Given the description of an element on the screen output the (x, y) to click on. 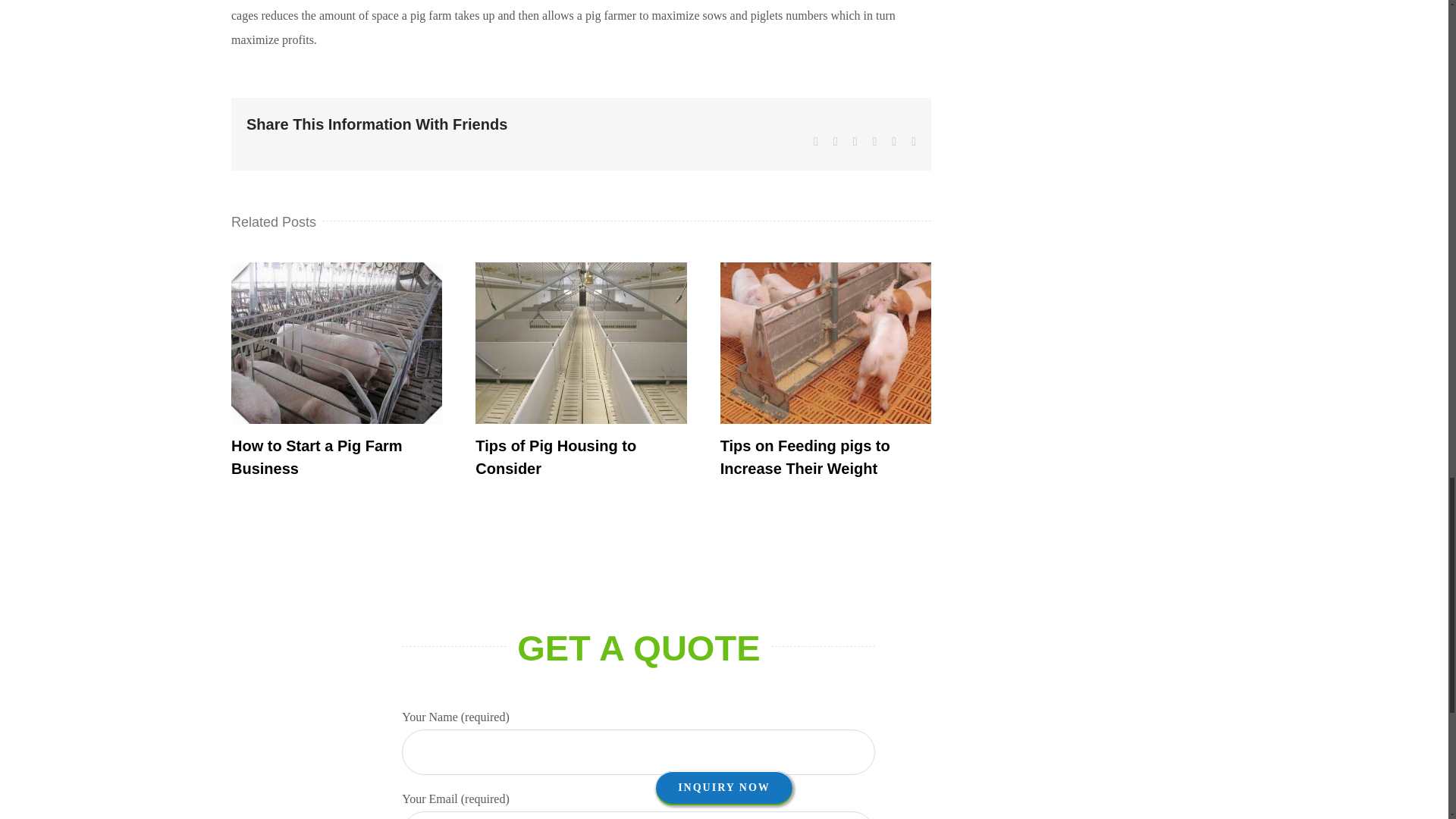
Facebook (815, 141)
How to Start a Pig Farm Business (317, 456)
How to Start a Pig Farm Business (317, 456)
LinkedIn (855, 141)
Email (913, 141)
Pinterest (893, 141)
Pinterest (893, 141)
Twitter (835, 141)
Facebook (815, 141)
WhatsApp (874, 141)
Tips of Pig Housing to Consider (556, 456)
LinkedIn (855, 141)
Tips on Feeding pigs to Increase Their Weight (804, 456)
WhatsApp (874, 141)
Tips of Pig Housing to Consider (556, 456)
